Given the description of an element on the screen output the (x, y) to click on. 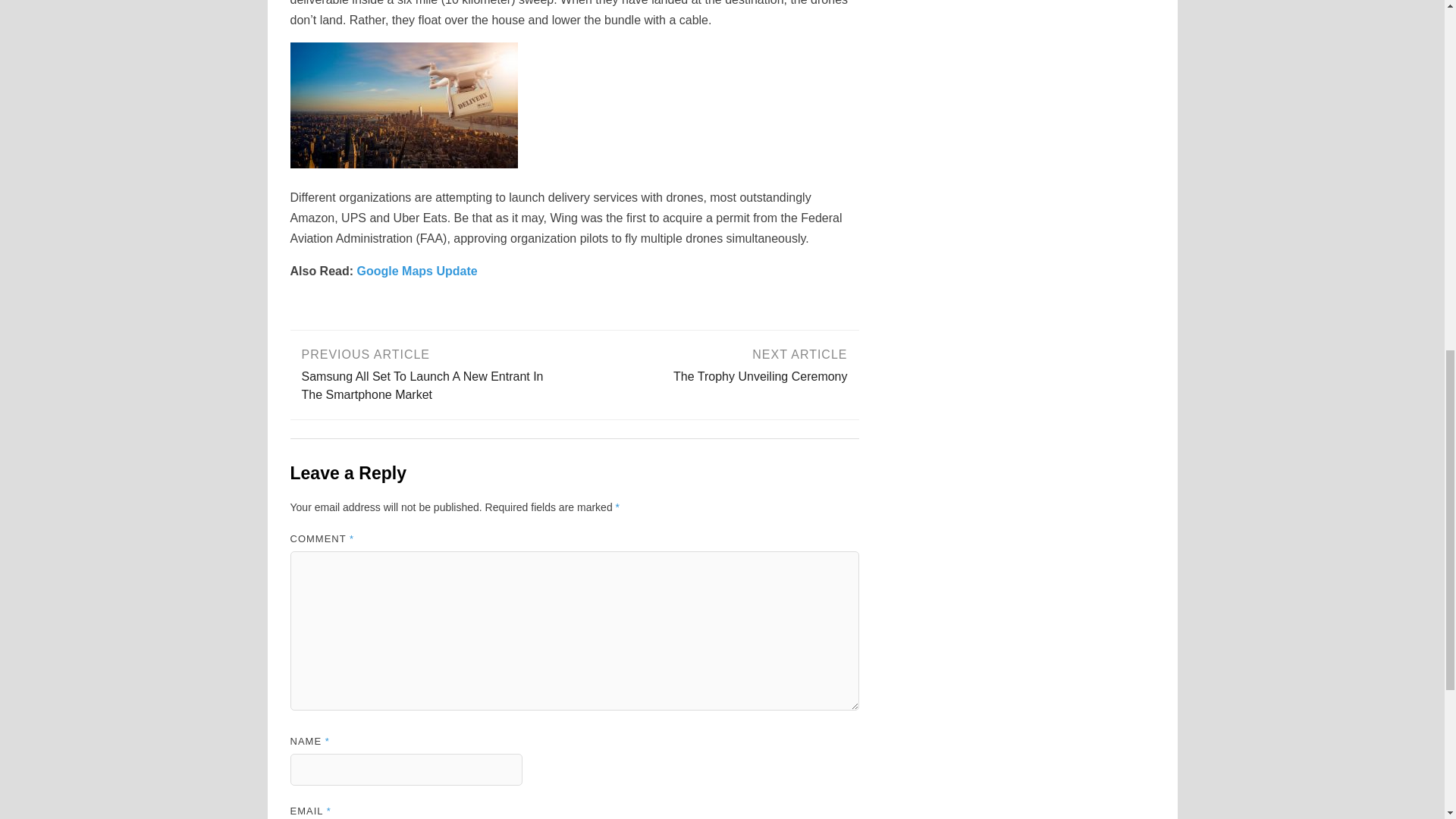
Google Maps Update  (716, 364)
